Given the description of an element on the screen output the (x, y) to click on. 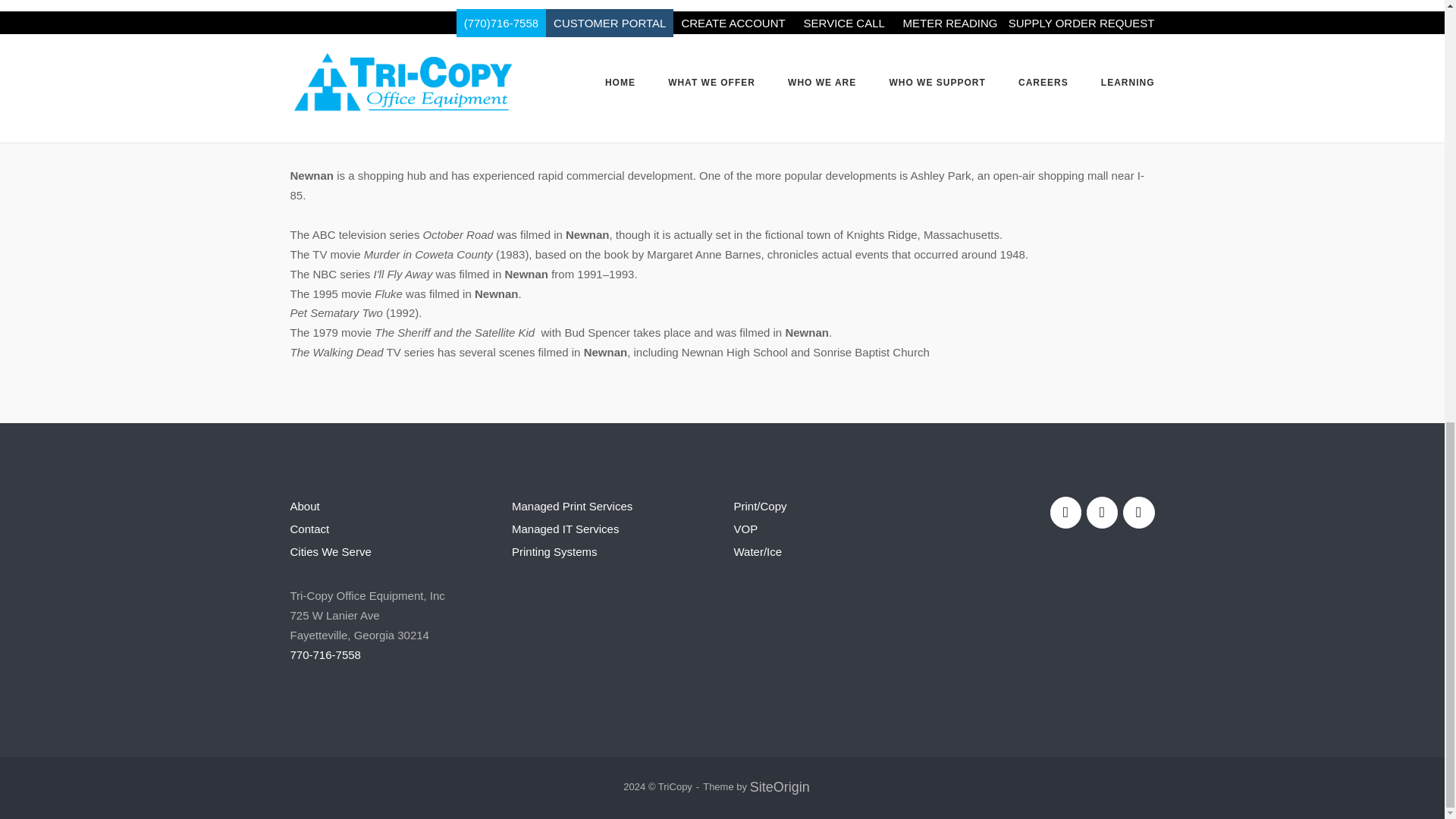
TriCopy on X Twitter (1138, 512)
Managed Print Services (571, 505)
About (303, 505)
Managed IT Services (565, 528)
TriCopy on Facebook (1065, 512)
SiteOrigin (779, 787)
770-716-7558 (324, 654)
Contact (309, 528)
VOP (745, 528)
Cities We Serve (330, 551)
TriCopy on Linkedin (1102, 512)
Printing Systems (554, 551)
